Given the description of an element on the screen output the (x, y) to click on. 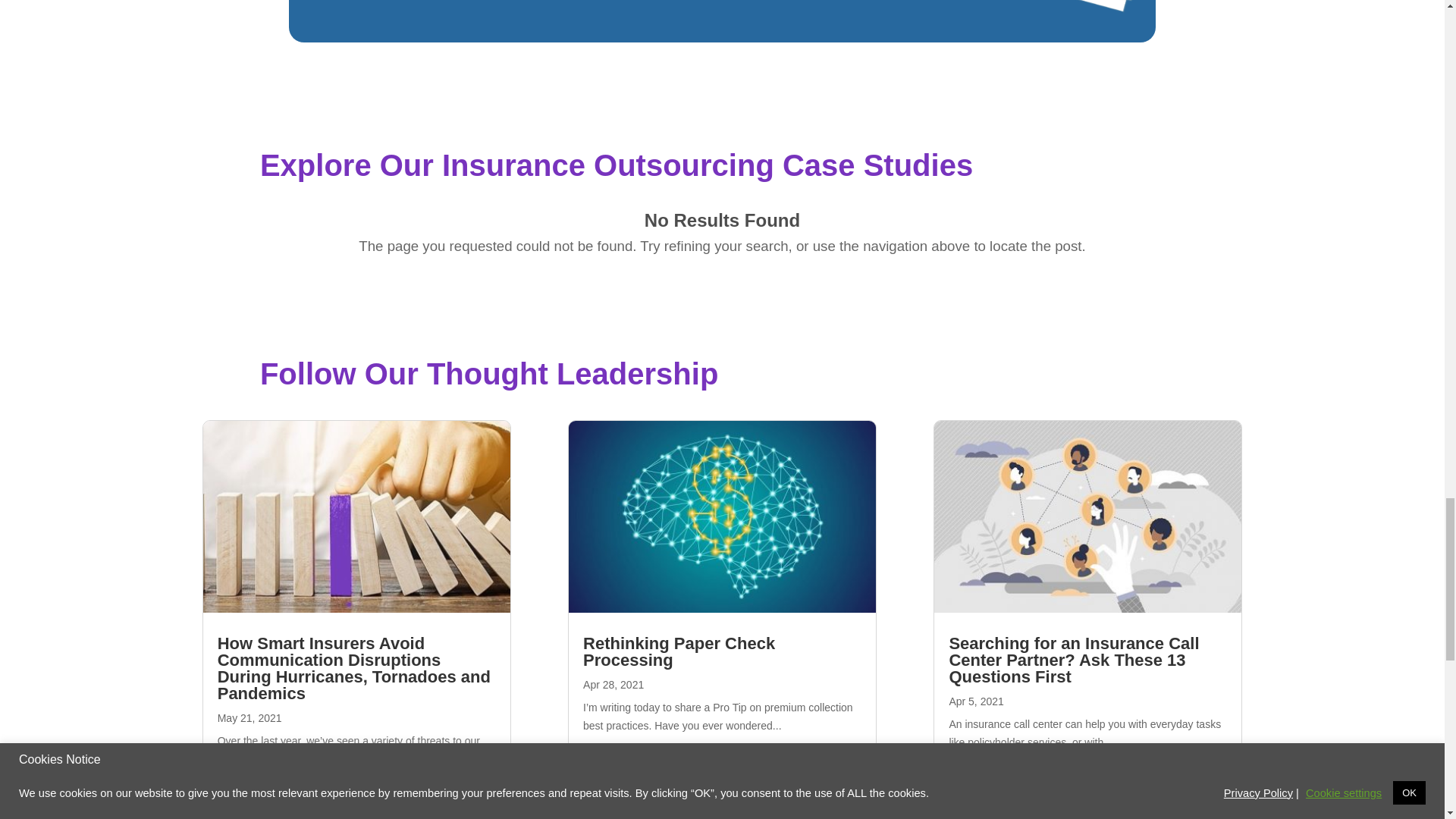
13QsThumb (1053, 7)
